Given the description of an element on the screen output the (x, y) to click on. 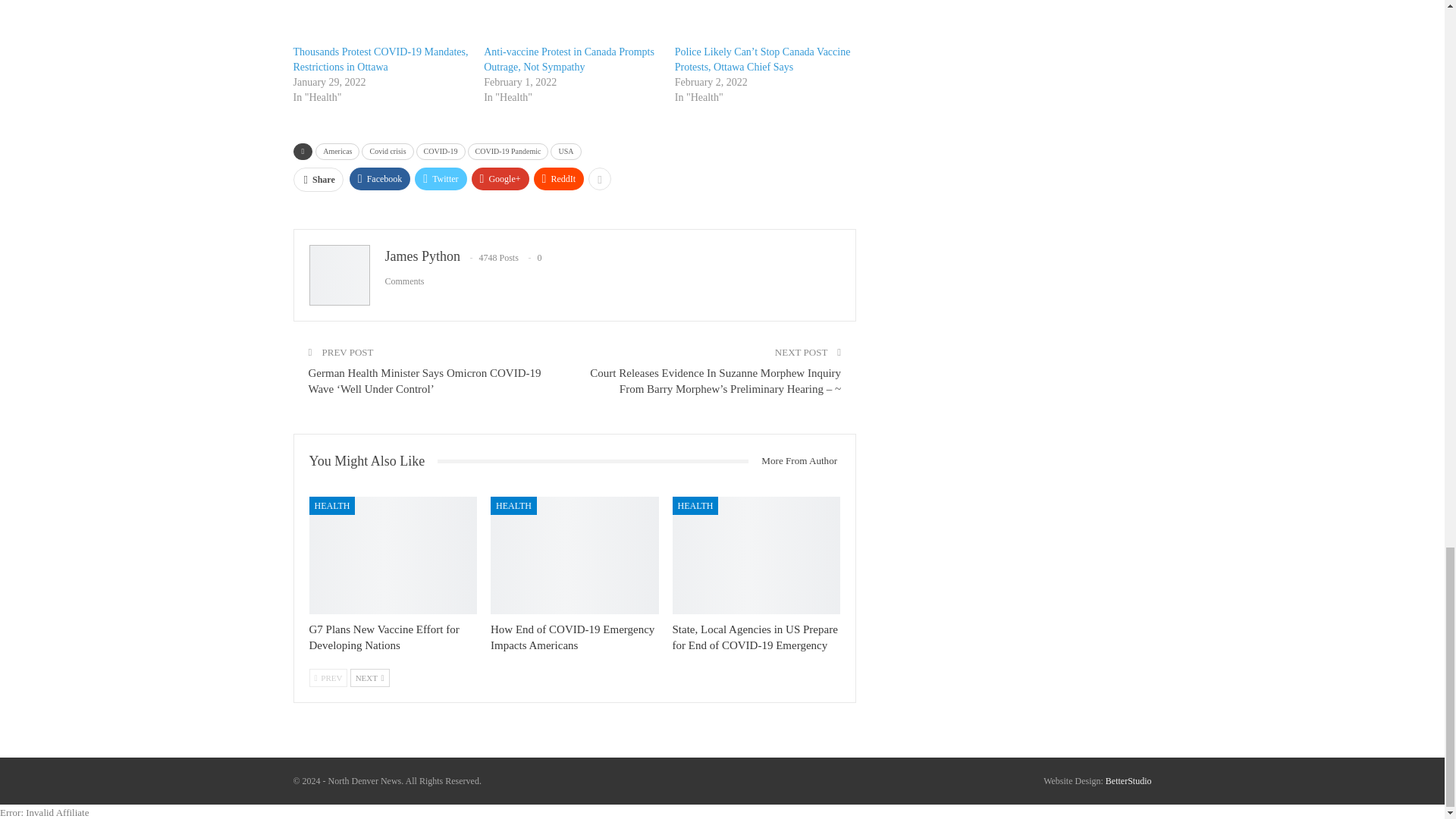
Thousands Protest COVID-19 Mandates, Restrictions in Ottawa (379, 58)
